Given the description of an element on the screen output the (x, y) to click on. 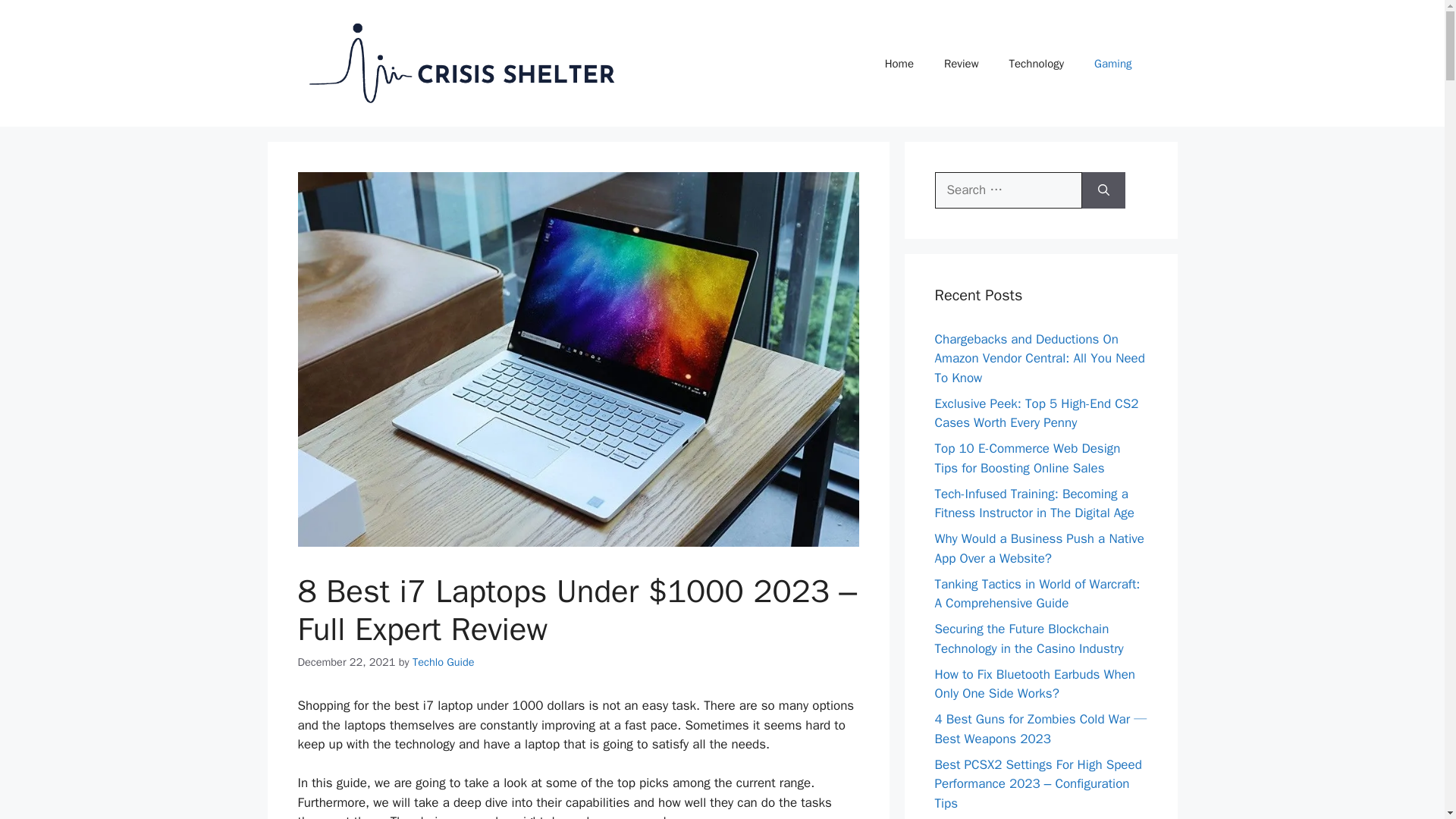
Home (898, 63)
Exclusive Peek: Top 5 High-End CS2 Cases Worth Every Penny (1036, 413)
Review (961, 63)
Gaming (1112, 63)
Why Would a Business Push a Native App Over a Website? (1038, 548)
Tanking Tactics in World of Warcraft: A Comprehensive Guide (1037, 593)
Technology (1037, 63)
How to Fix Bluetooth Earbuds When Only One Side Works? (1034, 683)
